Given the description of an element on the screen output the (x, y) to click on. 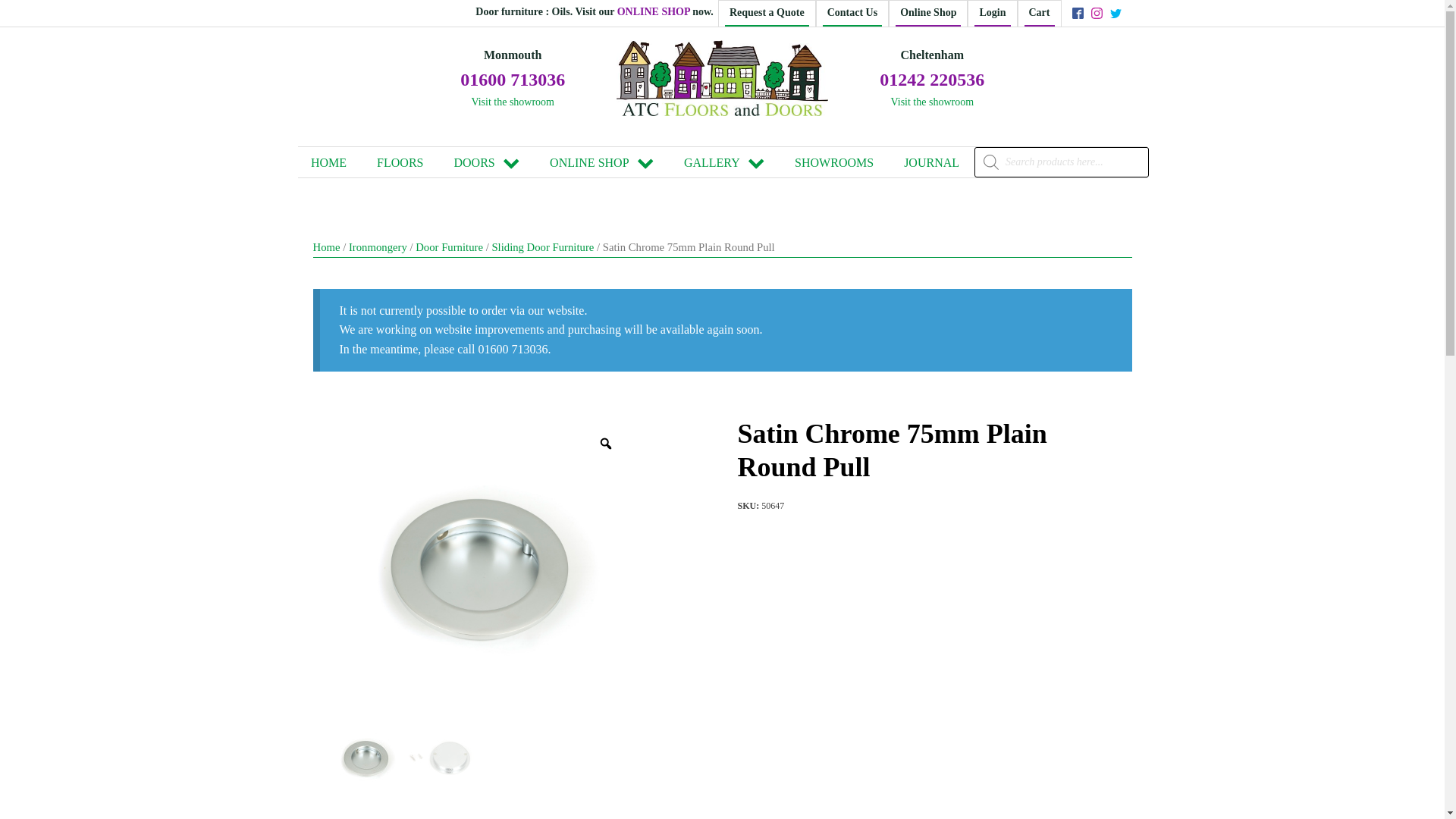
ONLINE SHOP  (655, 12)
01600 713036 (512, 79)
FLOORS (399, 162)
Visit the showroom (931, 102)
Login (992, 13)
Cart (1038, 13)
HOME (328, 162)
DOORS (486, 162)
Request a Quote (767, 13)
01242 220536 (931, 79)
Online Shop (927, 13)
Visit the showroom (512, 102)
Contact Us (852, 13)
